Given the description of an element on the screen output the (x, y) to click on. 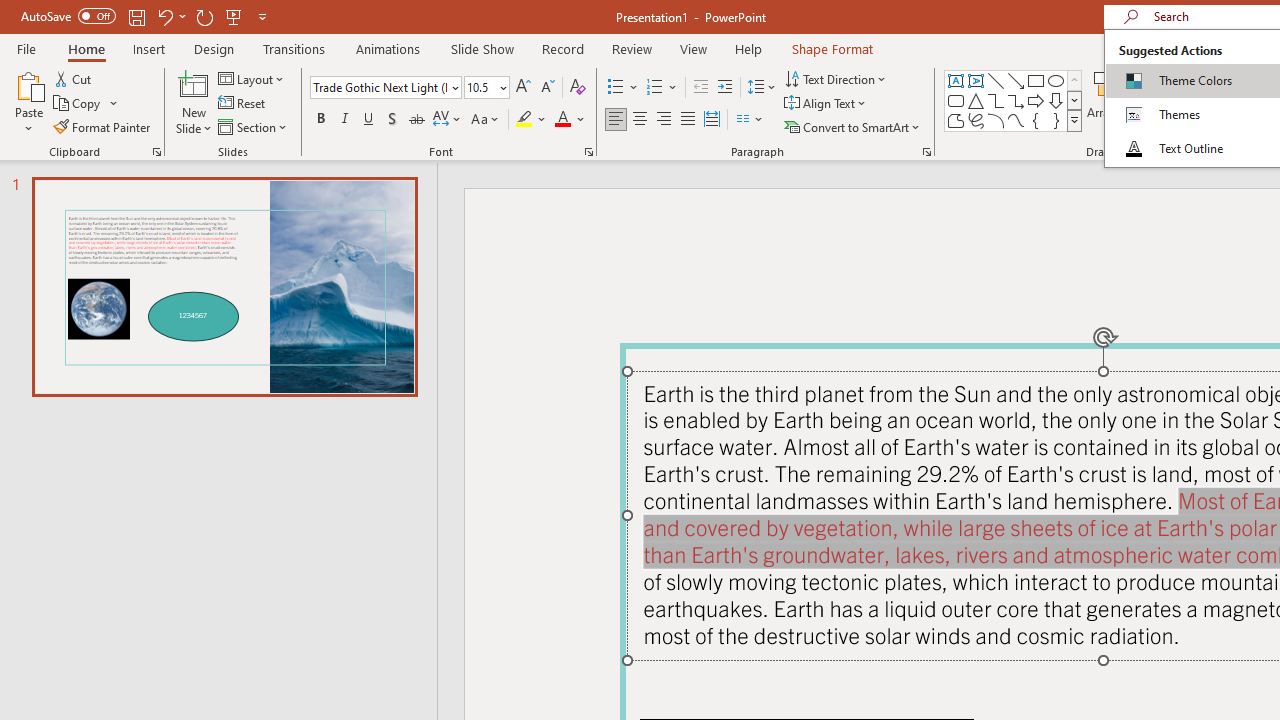
Shape Fill Aqua, Accent 2 (1188, 78)
